Given the description of an element on the screen output the (x, y) to click on. 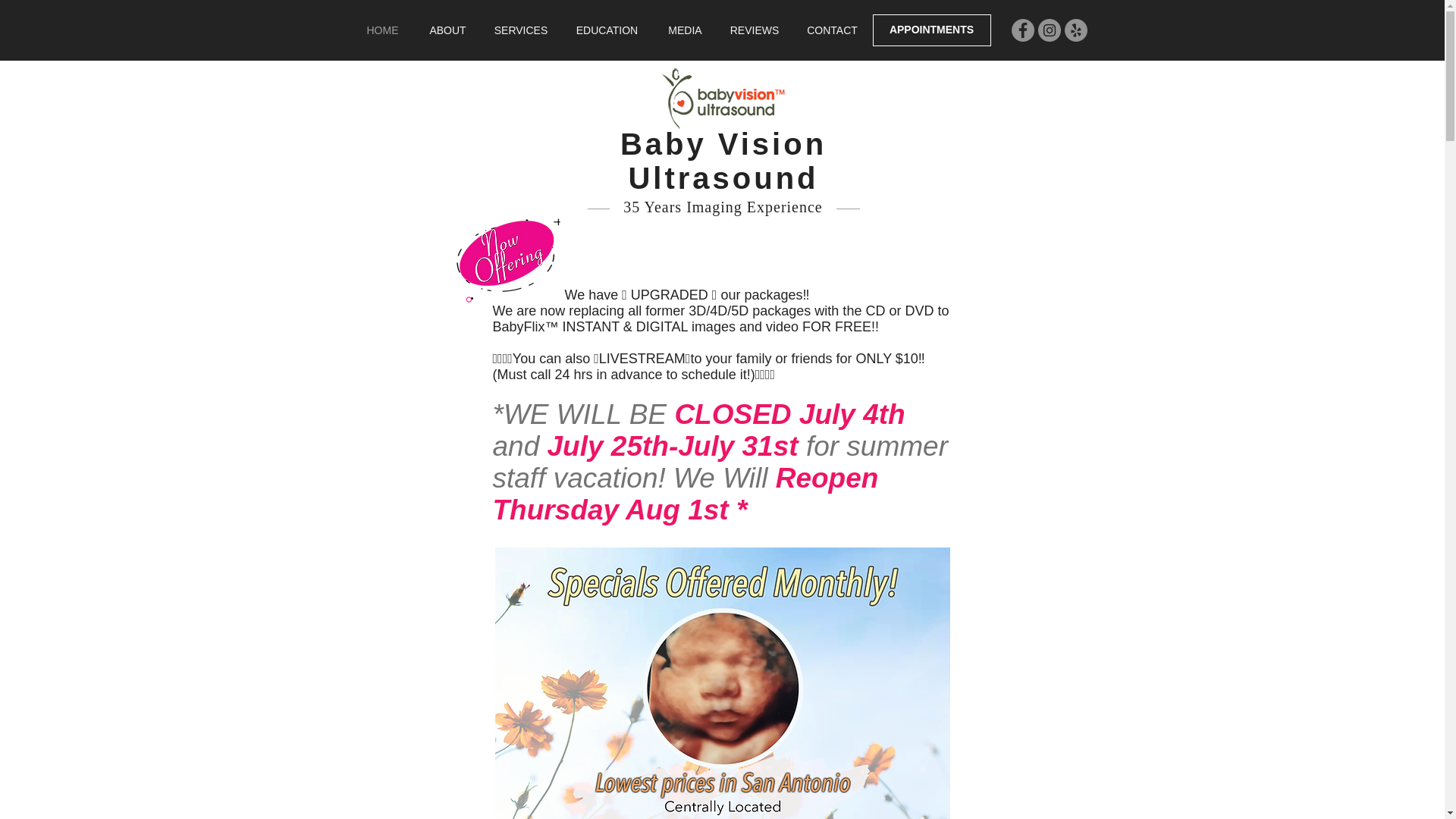
SERVICES (520, 29)
HOME (381, 29)
APPOINTMENTS (931, 29)
MEDIA (685, 29)
EDUCATION (606, 29)
CONTACT (832, 29)
ABOUT (446, 29)
REVIEWS (754, 29)
